Given the description of an element on the screen output the (x, y) to click on. 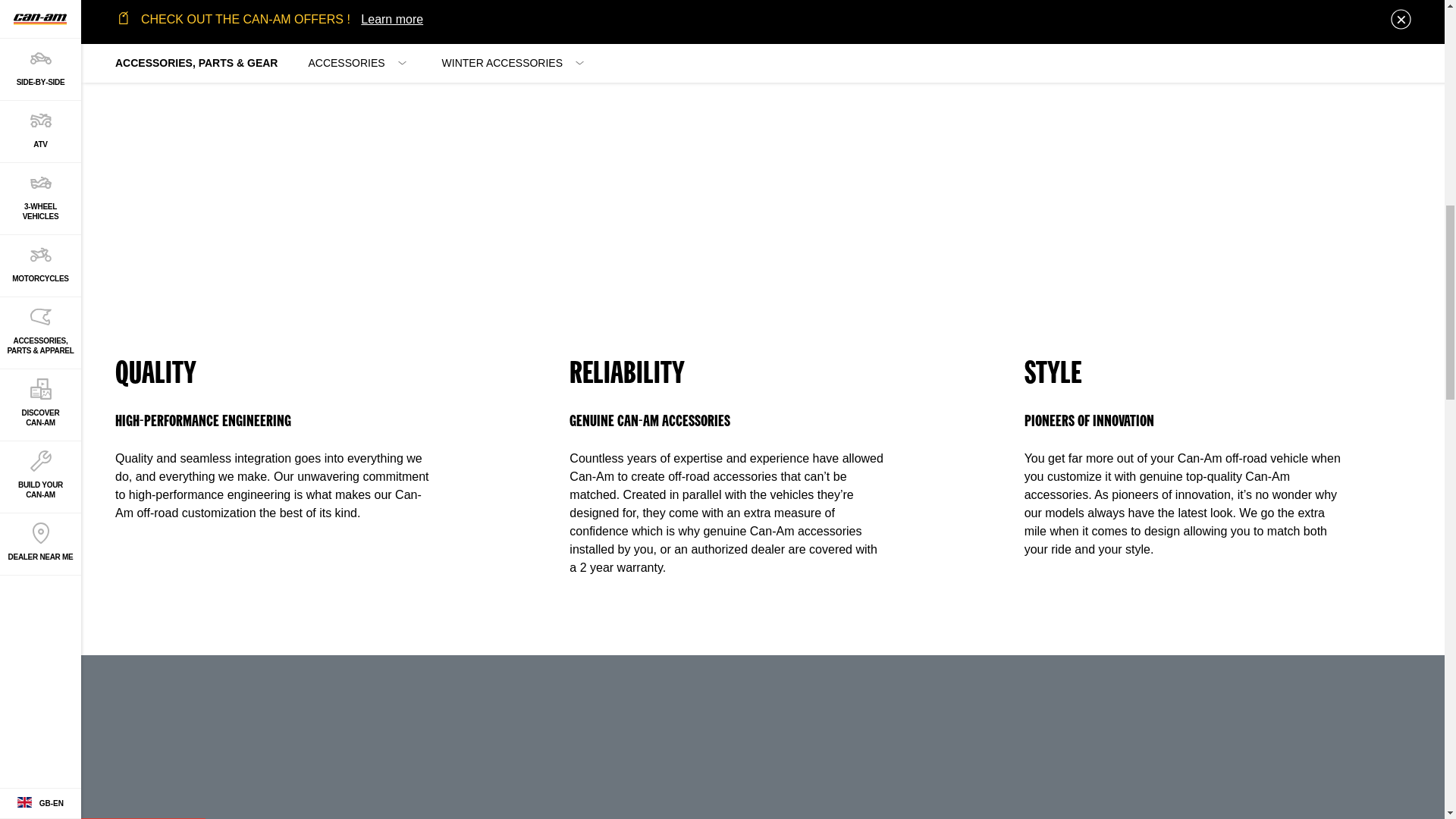
Two men loading a Traxter PRO (308, 193)
Can-Am ATV Accessories (762, 193)
